Given the description of an element on the screen output the (x, y) to click on. 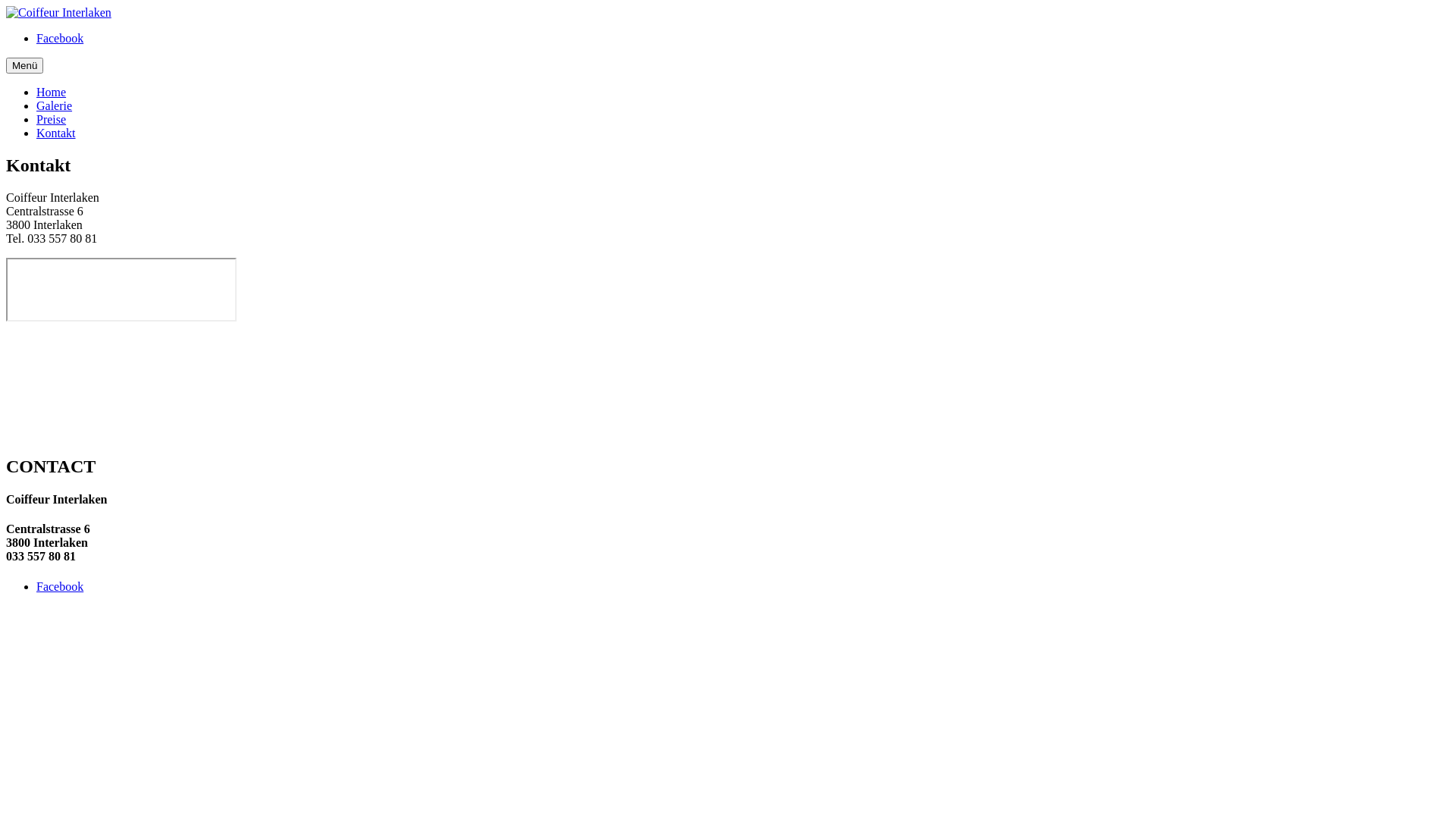
Facebook Element type: text (59, 37)
Kontakt Element type: text (55, 132)
Home Element type: text (50, 91)
Coiffeur Interlaken Element type: hover (58, 12)
Galerie Element type: text (54, 105)
Facebook Element type: text (59, 586)
Preise Element type: text (50, 118)
